Given the description of an element on the screen output the (x, y) to click on. 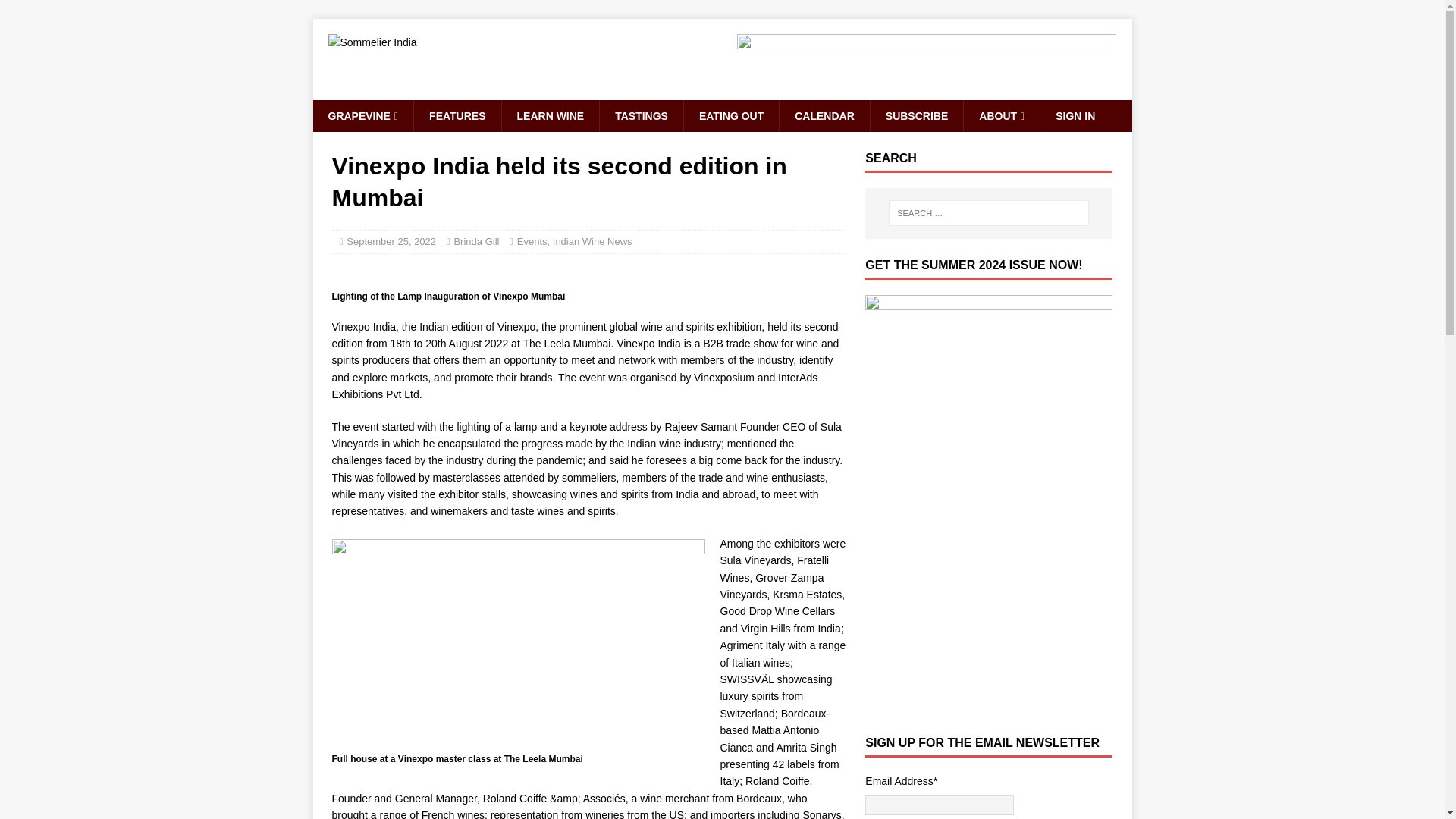
EATING OUT (730, 115)
GRAPEVINE (363, 115)
LEARN WINE (549, 115)
September 25, 2022 (390, 241)
ABOUT (1000, 115)
CALENDAR (823, 115)
SIGN IN (1074, 115)
TASTINGS (640, 115)
SUBSCRIBE (915, 115)
FEATURES (456, 115)
